Given the description of an element on the screen output the (x, y) to click on. 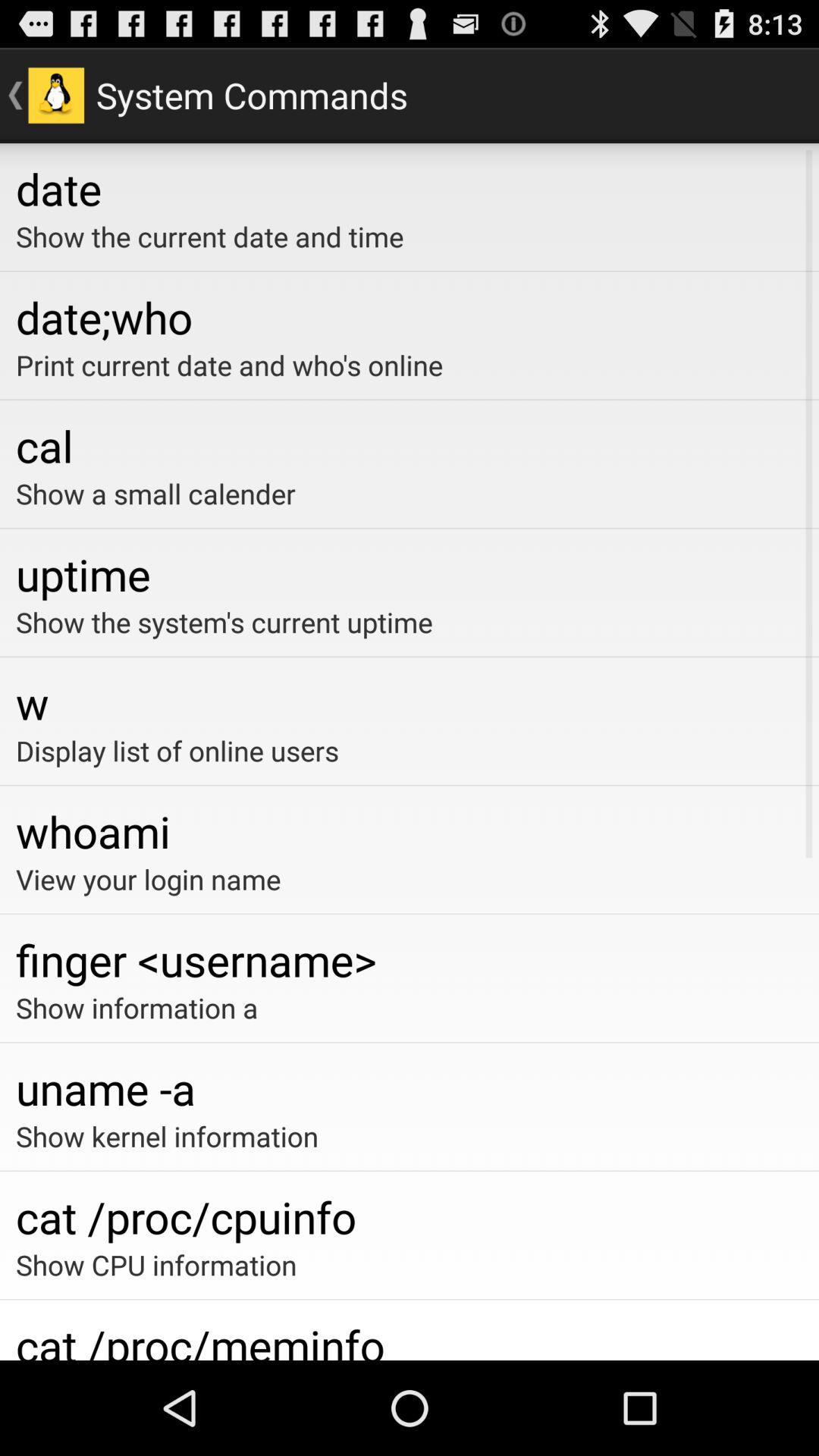
launch the app above show kernel information app (409, 1088)
